Given the description of an element on the screen output the (x, y) to click on. 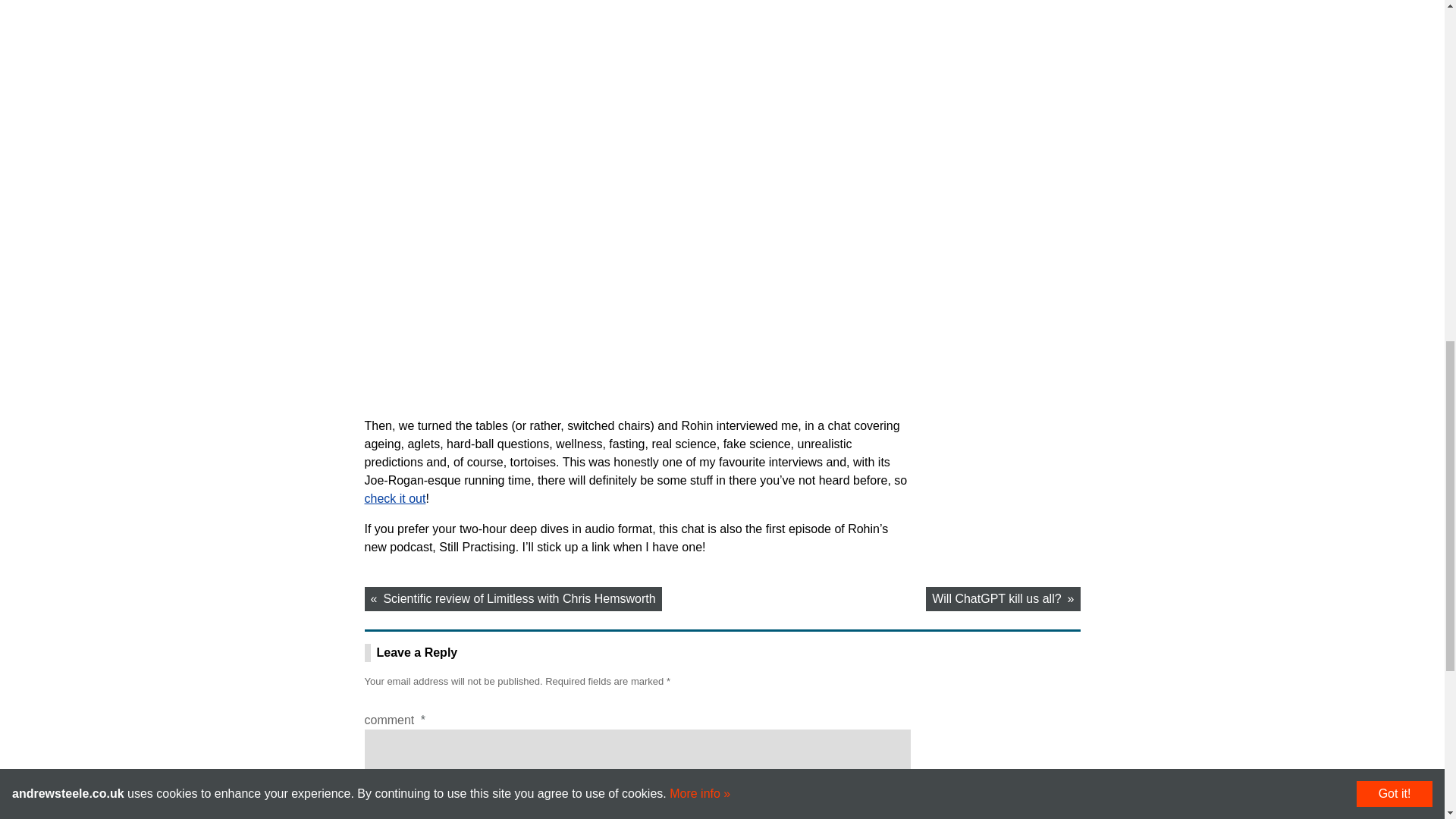
check it out (394, 498)
Will ChatGPT kill us all? (1003, 598)
Scientific review of Limitless with Chris Hemsworth (512, 598)
